Given the description of an element on the screen output the (x, y) to click on. 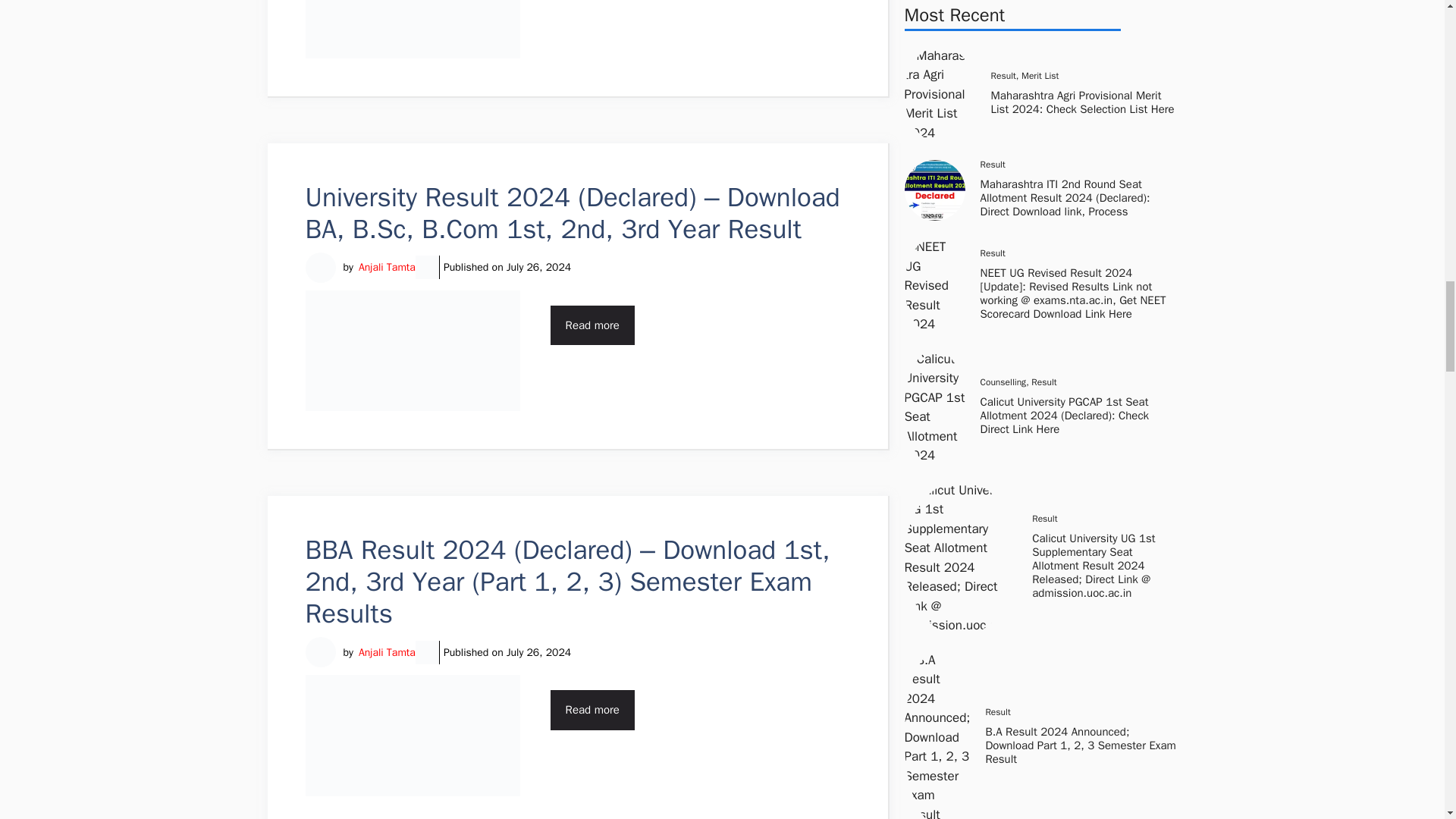
Read more (592, 710)
Anjali Tamta (386, 267)
Read more (592, 325)
Anjali Tamta (386, 652)
